Given the description of an element on the screen output the (x, y) to click on. 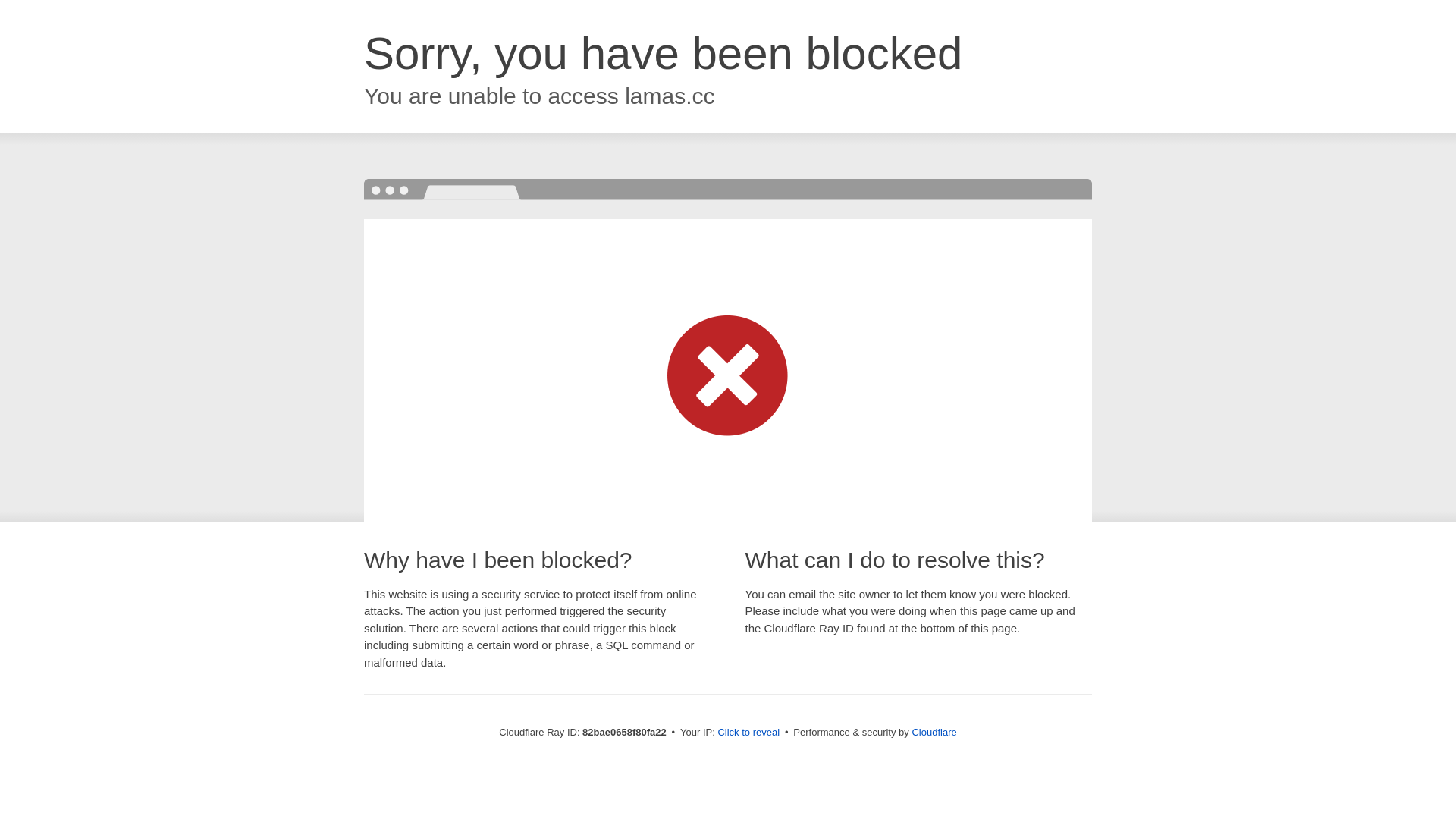
Click to reveal Element type: text (748, 732)
Cloudflare Element type: text (933, 731)
